Given the description of an element on the screen output the (x, y) to click on. 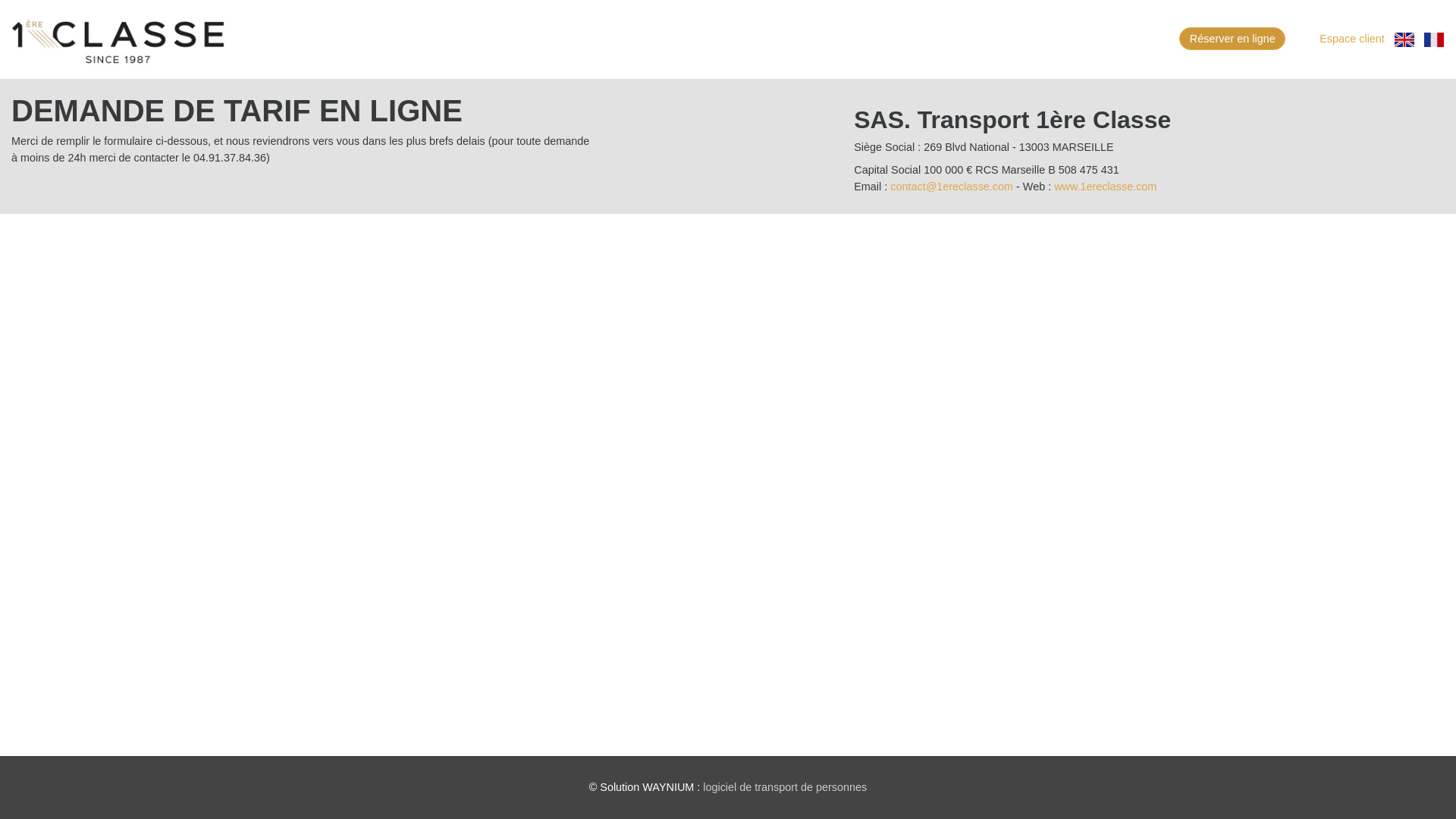
contact@1ereclasse.com Element type: text (951, 186)
English (american) Element type: hover (1404, 39)
Espace client Element type: text (1351, 38)
www.1ereclasse.com Element type: text (1105, 186)
logiciel de transport de personnes Element type: text (784, 787)
